Given the description of an element on the screen output the (x, y) to click on. 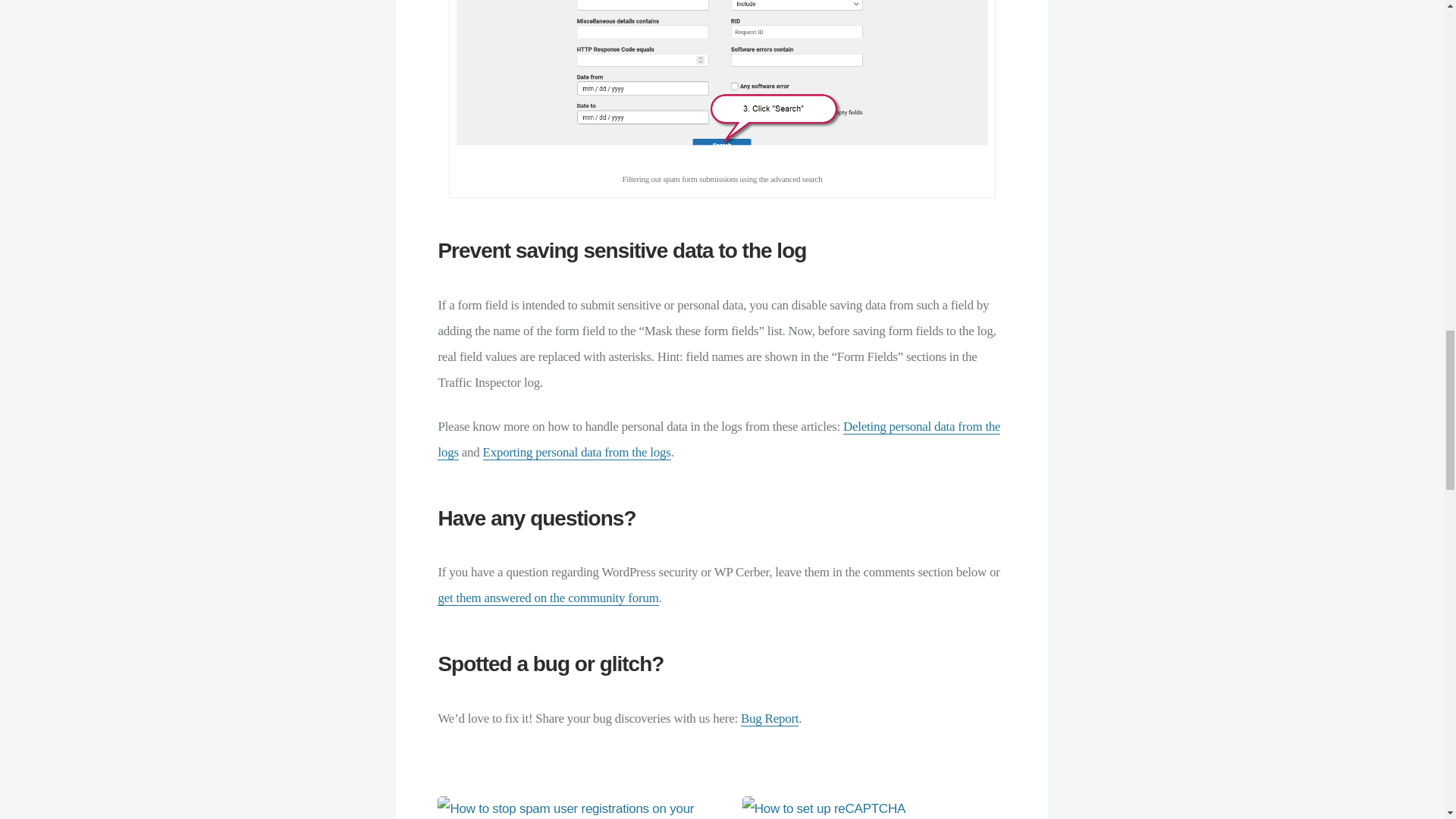
Bug Report (769, 718)
Deleting personal data from the logs (719, 439)
Exporting personal data from the logs (577, 452)
get them answered on the community forum (548, 598)
